Given the description of an element on the screen output the (x, y) to click on. 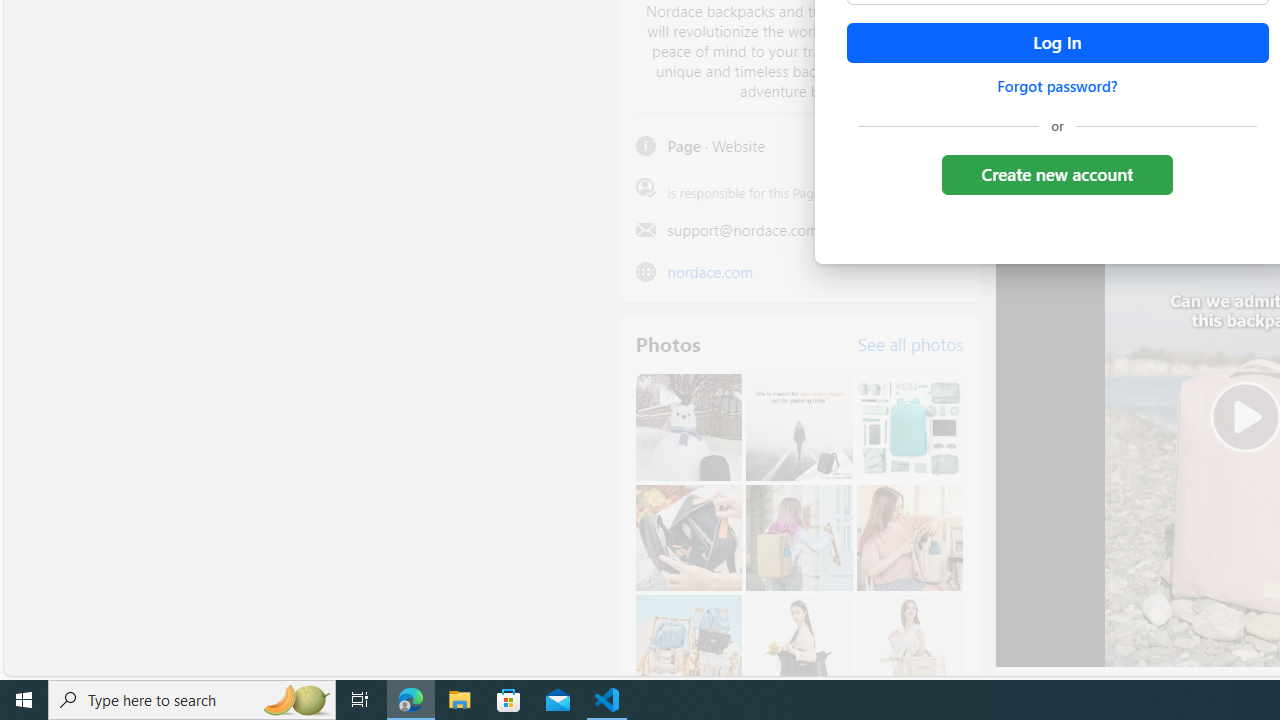
Accessible login button (1057, 43)
Forgot password? (1057, 85)
Create new account (1056, 174)
